Given the description of an element on the screen output the (x, y) to click on. 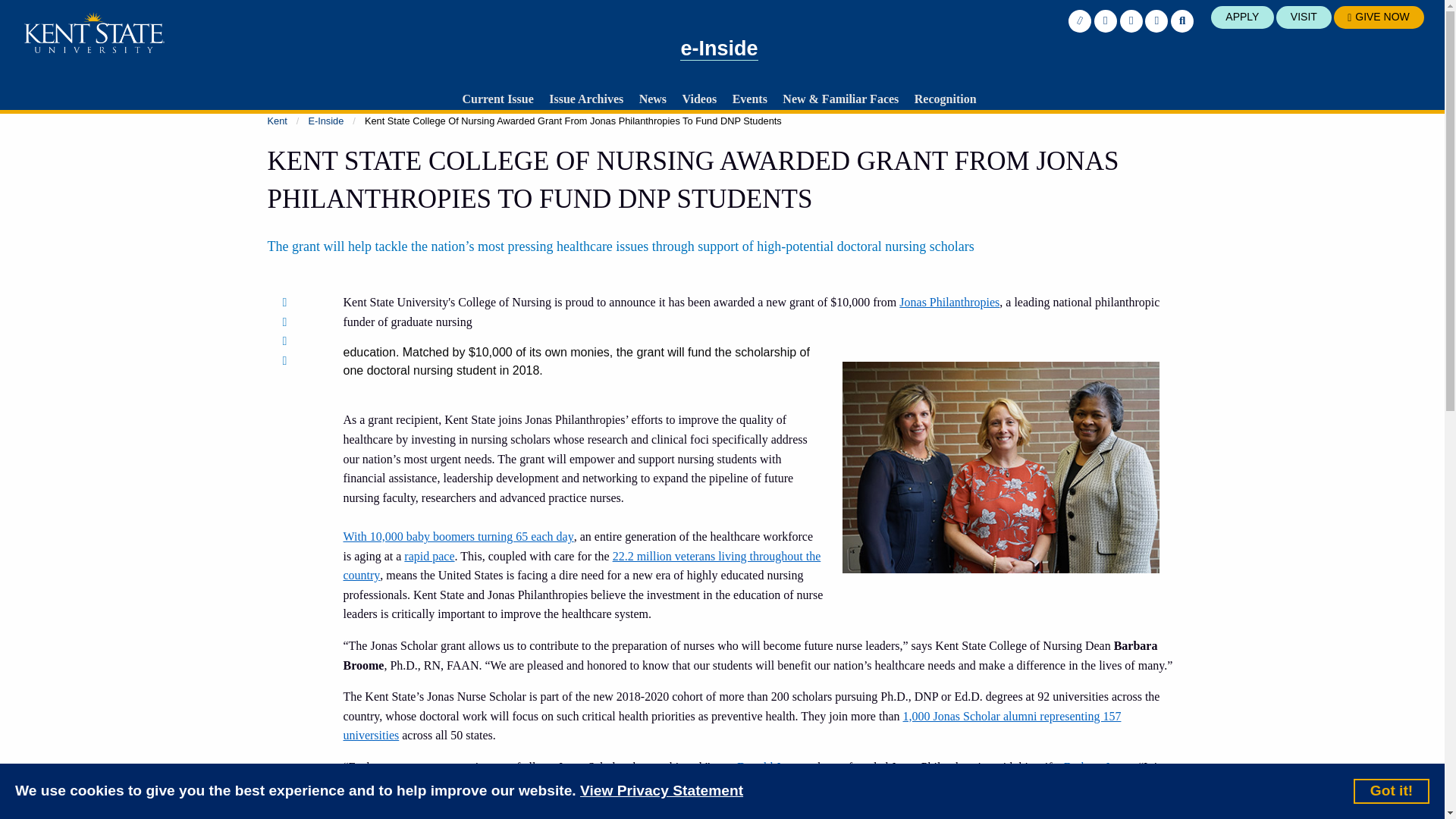
e-Inside (718, 48)
Kent State University logo (94, 32)
Share on Facebook (288, 301)
Share on LinkedIn (288, 340)
Share on Twitter (288, 321)
News (652, 98)
APPLY (1241, 16)
GIVE NOW (1378, 16)
View Privacy Statement (660, 791)
Got it! (1391, 789)
Issue Archives (585, 98)
Share by Email (288, 359)
Current Issue (496, 98)
VISIT (1304, 16)
